Given the description of an element on the screen output the (x, y) to click on. 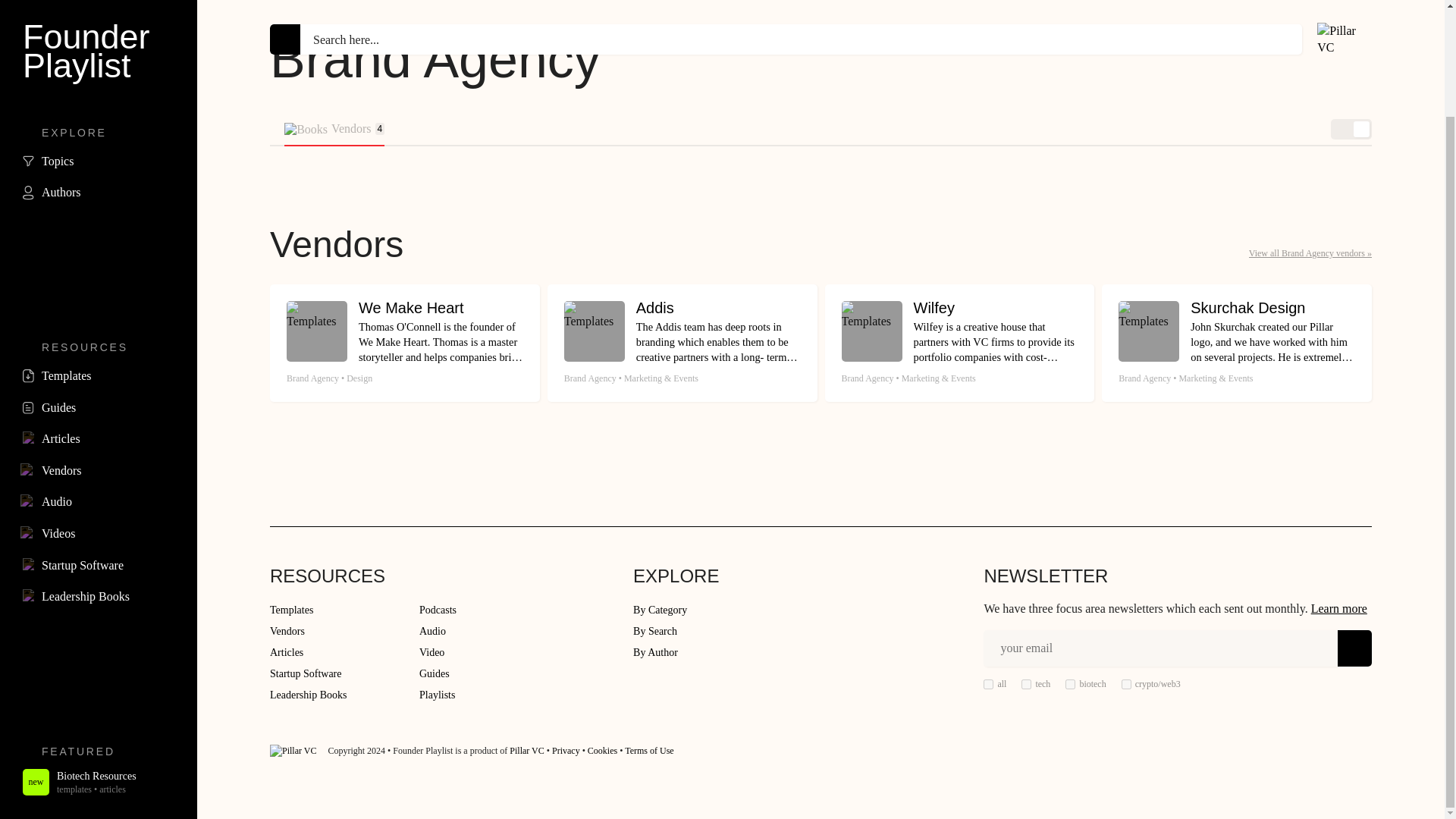
Send (1354, 647)
Guides (333, 129)
Articles (98, 282)
Topics (98, 314)
Biotech (98, 36)
Templates (1070, 684)
Tech (98, 250)
Crypto (1026, 684)
All (1126, 684)
